Given the description of an element on the screen output the (x, y) to click on. 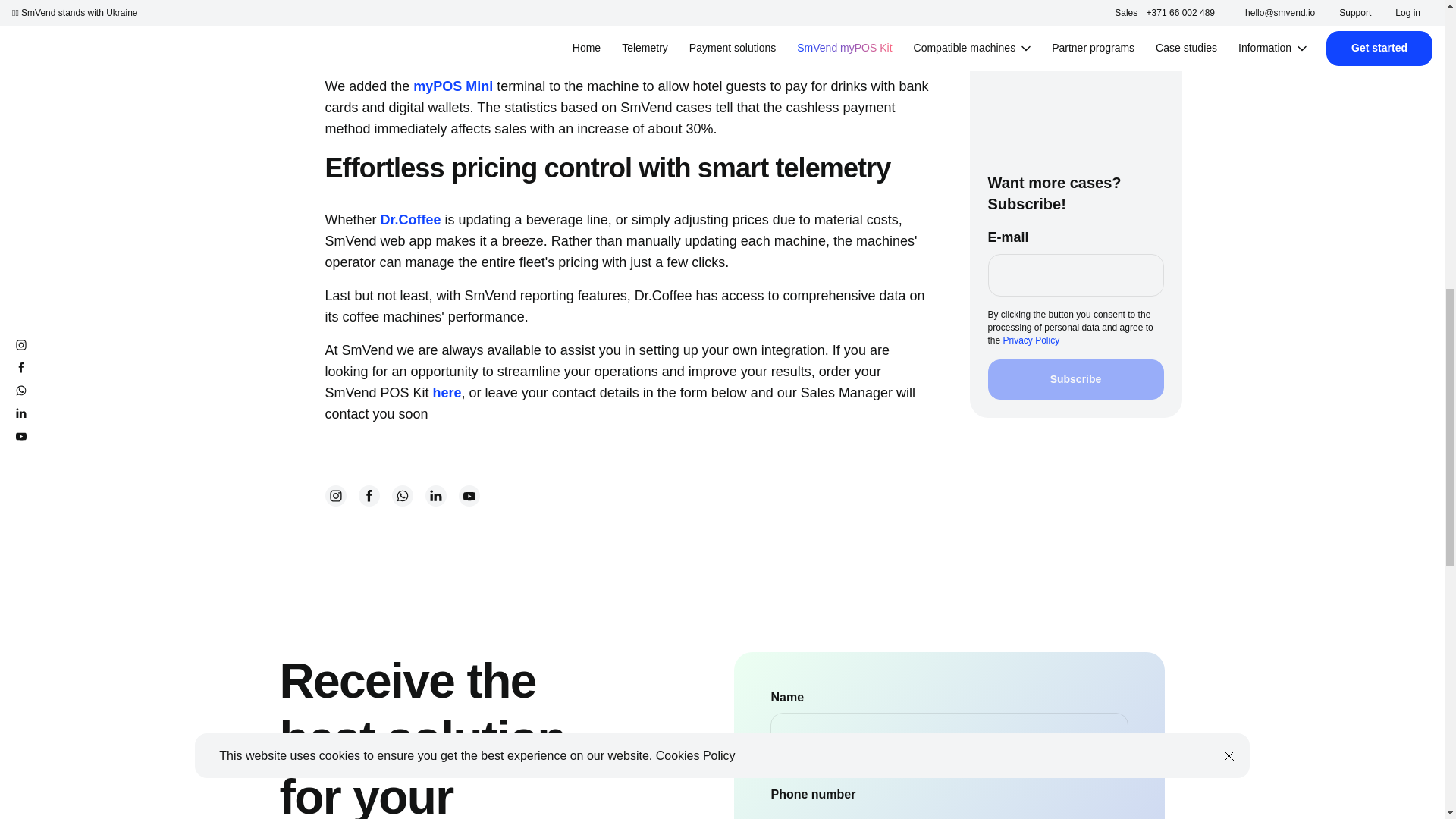
myPOS Mini (454, 86)
here (446, 392)
Dr.Coffee (410, 219)
